Given the description of an element on the screen output the (x, y) to click on. 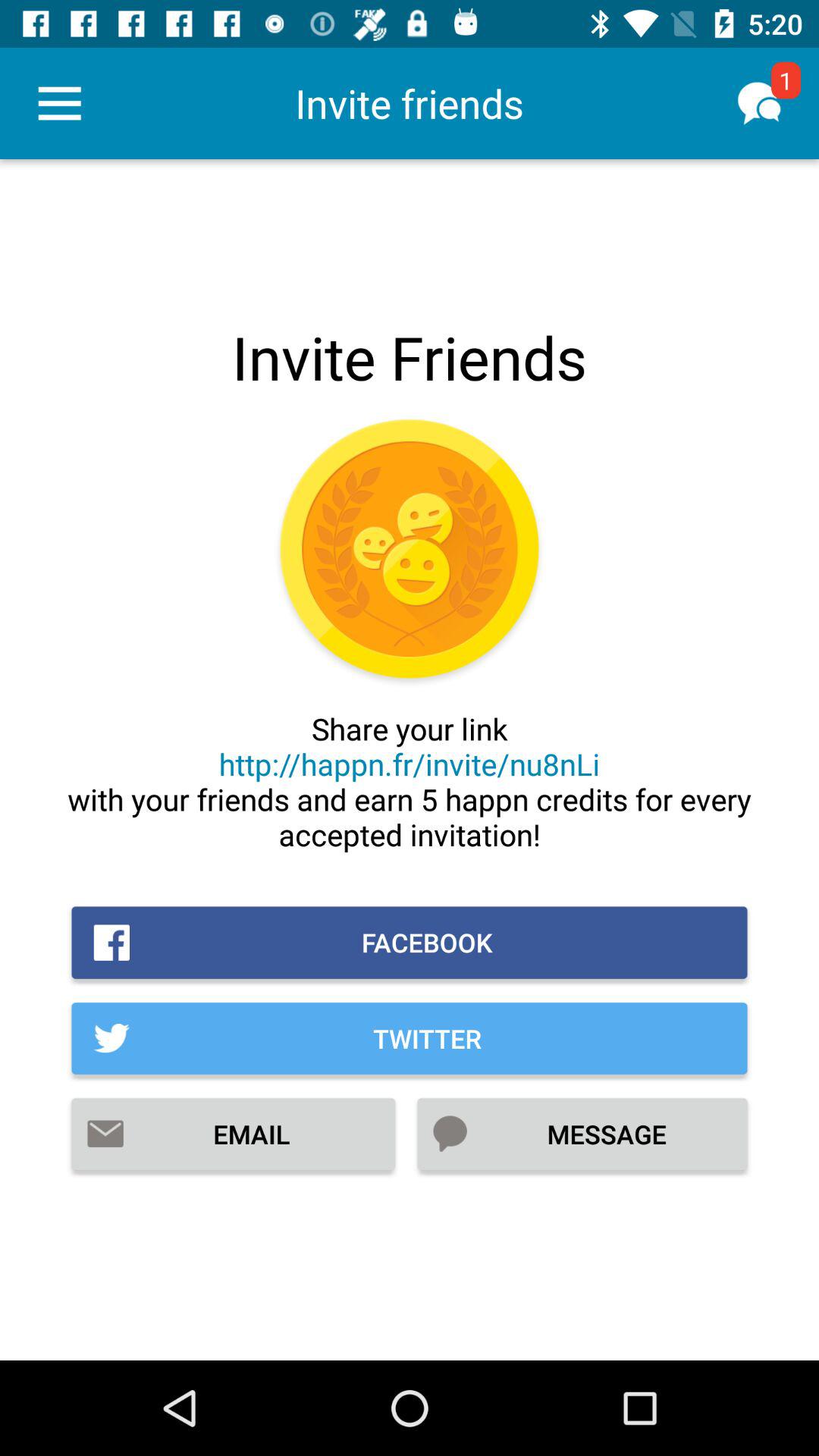
select icon below twitter icon (233, 1133)
